Given the description of an element on the screen output the (x, y) to click on. 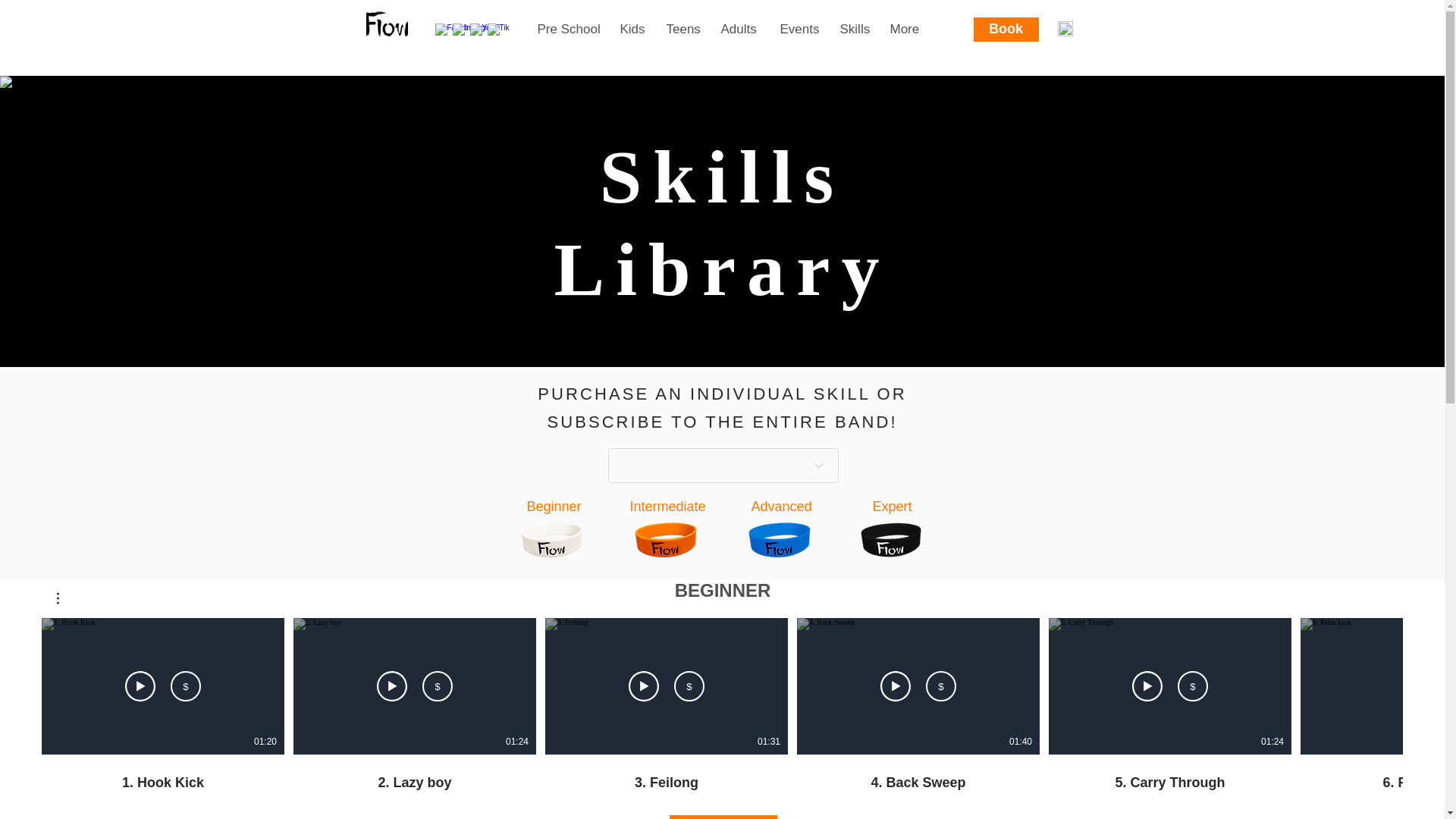
3. Feilong (666, 782)
Expert (891, 506)
1. Hook Kick (162, 773)
Advanced (780, 506)
2. Lazy boy (414, 782)
2. Lazy boy (414, 773)
Beginner (552, 506)
5. Carry Through (1170, 782)
4. Back Sweep (918, 782)
1. Hook Kick (162, 782)
